Given the description of an element on the screen output the (x, y) to click on. 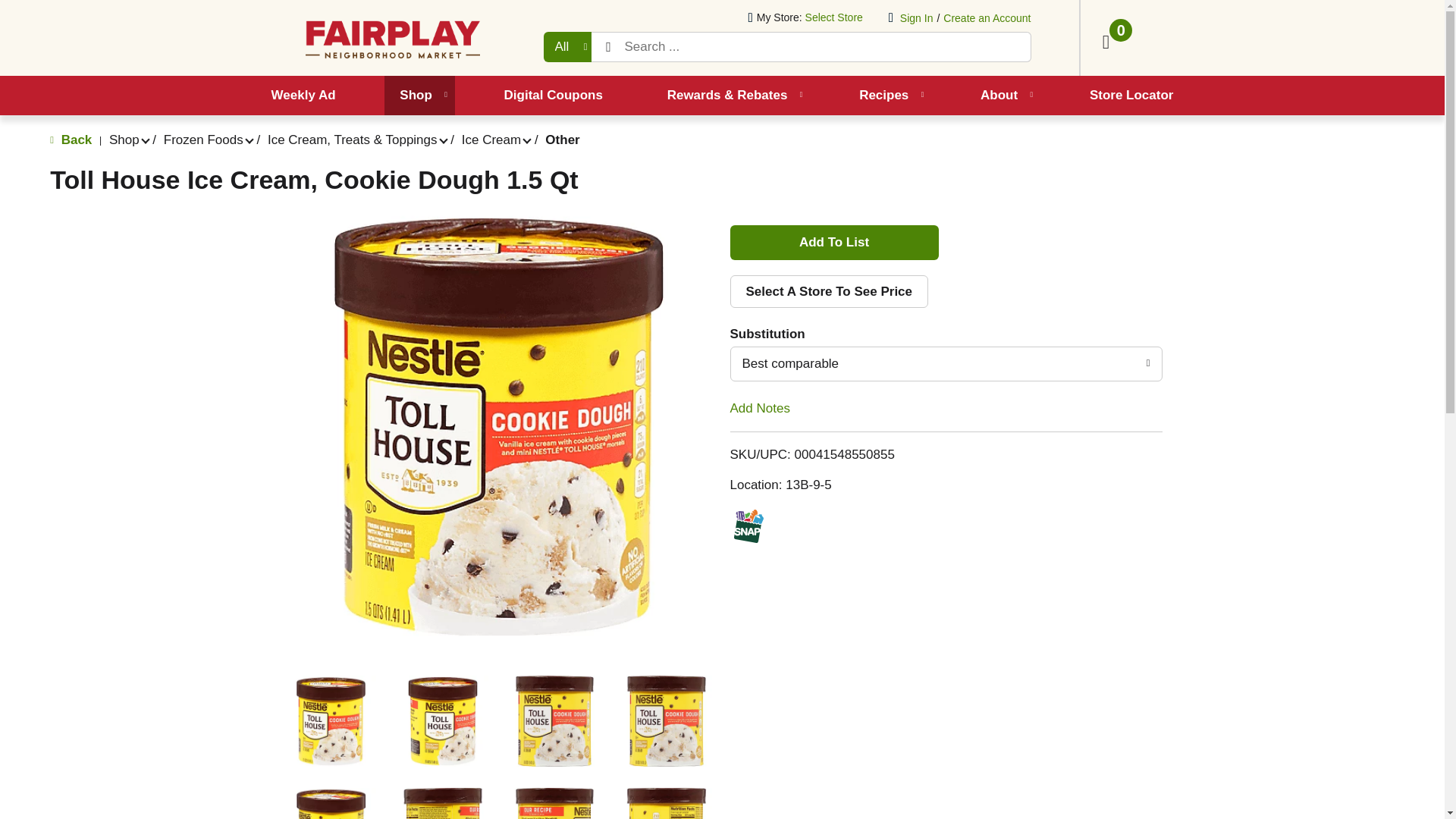
Select Store (835, 17)
Shop (419, 95)
Weekly Ad (303, 95)
All (567, 46)
Select Store  (835, 17)
Sign In (916, 18)
Create an Account (986, 18)
